Given the description of an element on the screen output the (x, y) to click on. 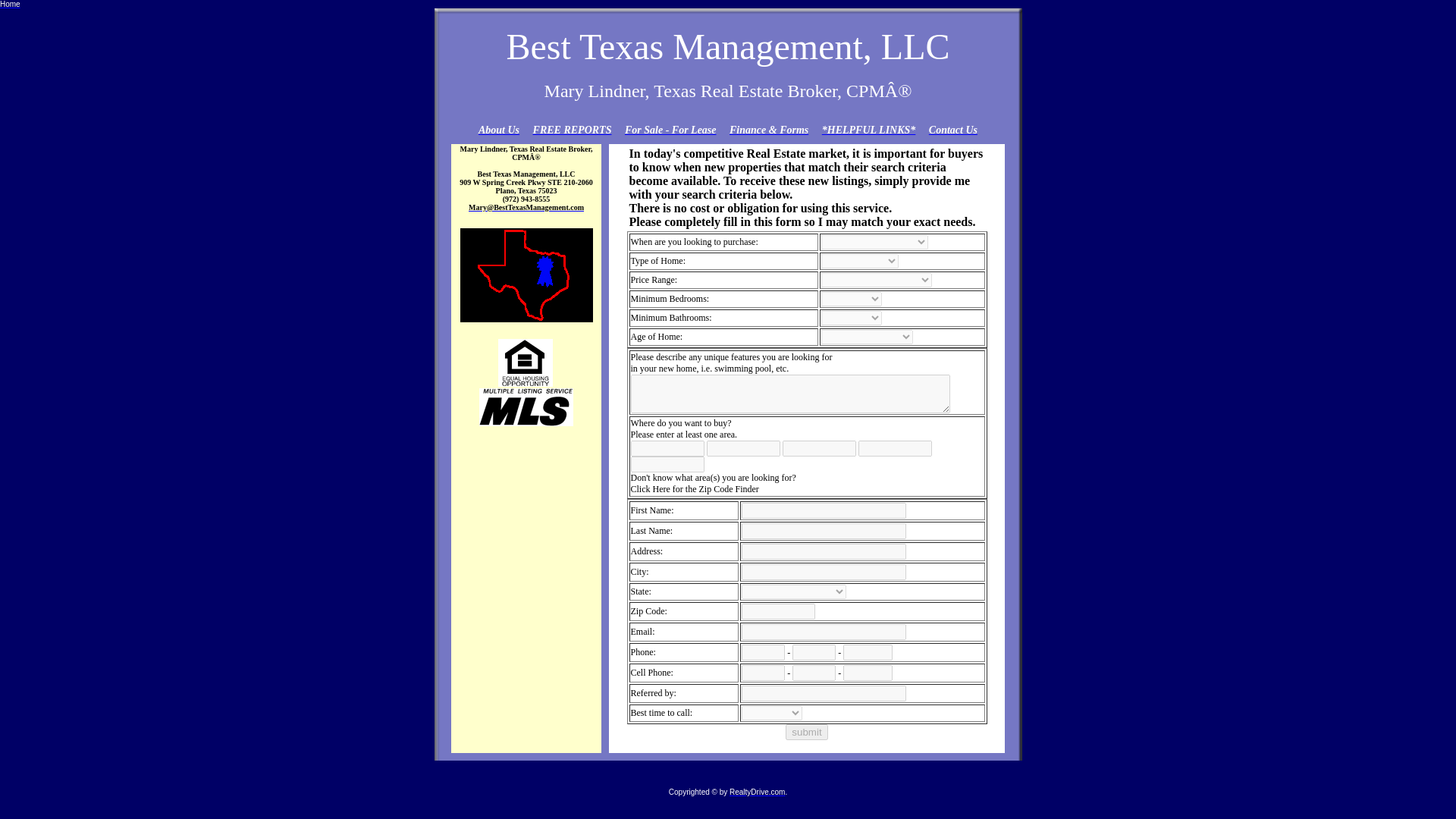
RealtyDrive.com (756, 789)
submit (806, 731)
Contact Us (952, 129)
For Sale - For Lease (670, 129)
About Us (499, 129)
Home (10, 4)
submit (806, 731)
FREE REPORTS (571, 129)
Click Here for the Zip Code Finder (694, 489)
